Given the description of an element on the screen output the (x, y) to click on. 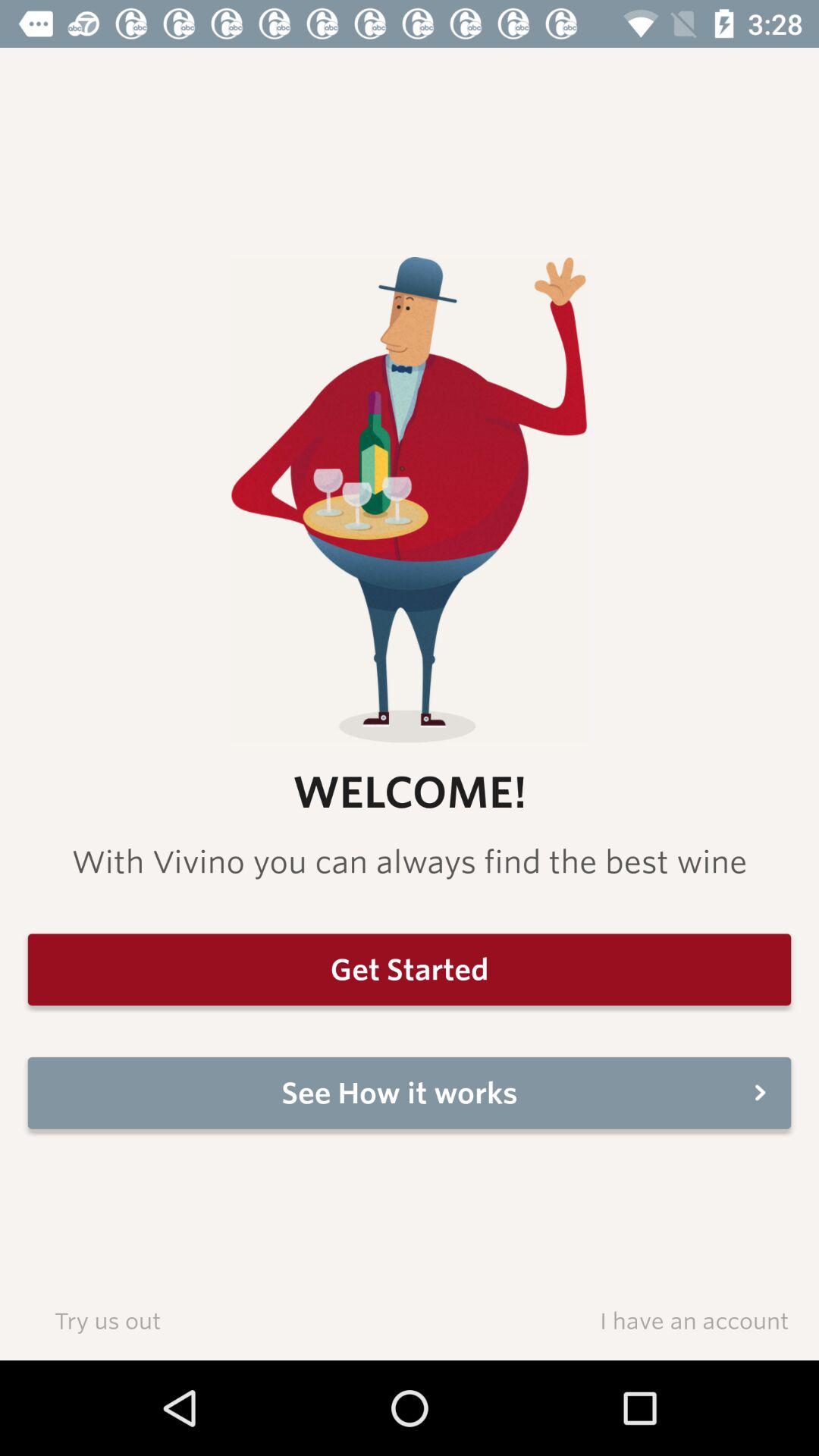
flip until the get started (409, 969)
